Given the description of an element on the screen output the (x, y) to click on. 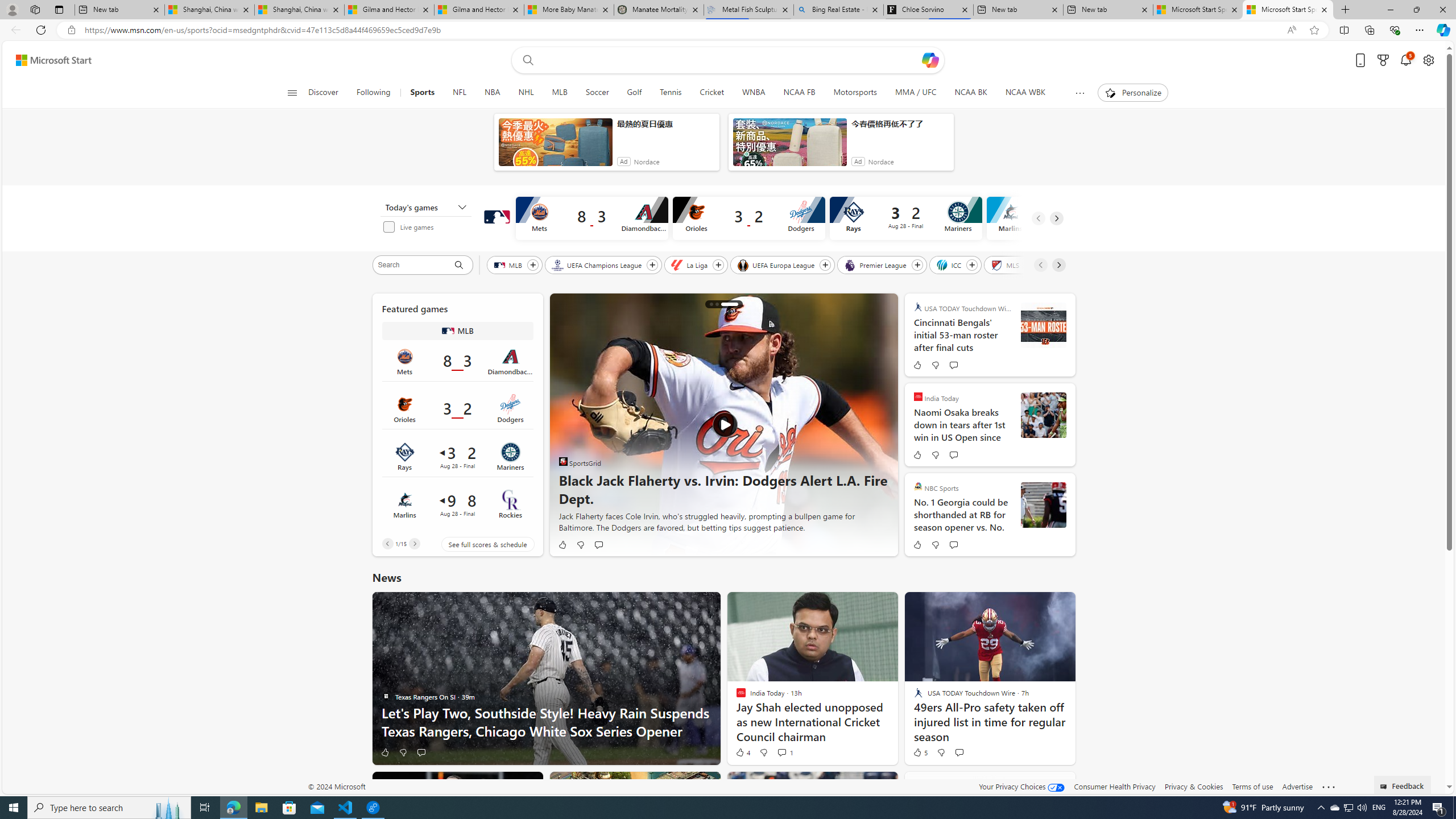
. (1042, 325)
Class: oneFooter_seeMore-DS-EntryPoint1-1 (1328, 786)
NCAA WBK (1024, 92)
previous (565, 425)
Discover (327, 92)
Show more topics (1079, 92)
Next (413, 543)
To get missing image descriptions, open the context menu. (1109, 92)
Nordace (880, 161)
NCAA FB (799, 92)
